Given the description of an element on the screen output the (x, y) to click on. 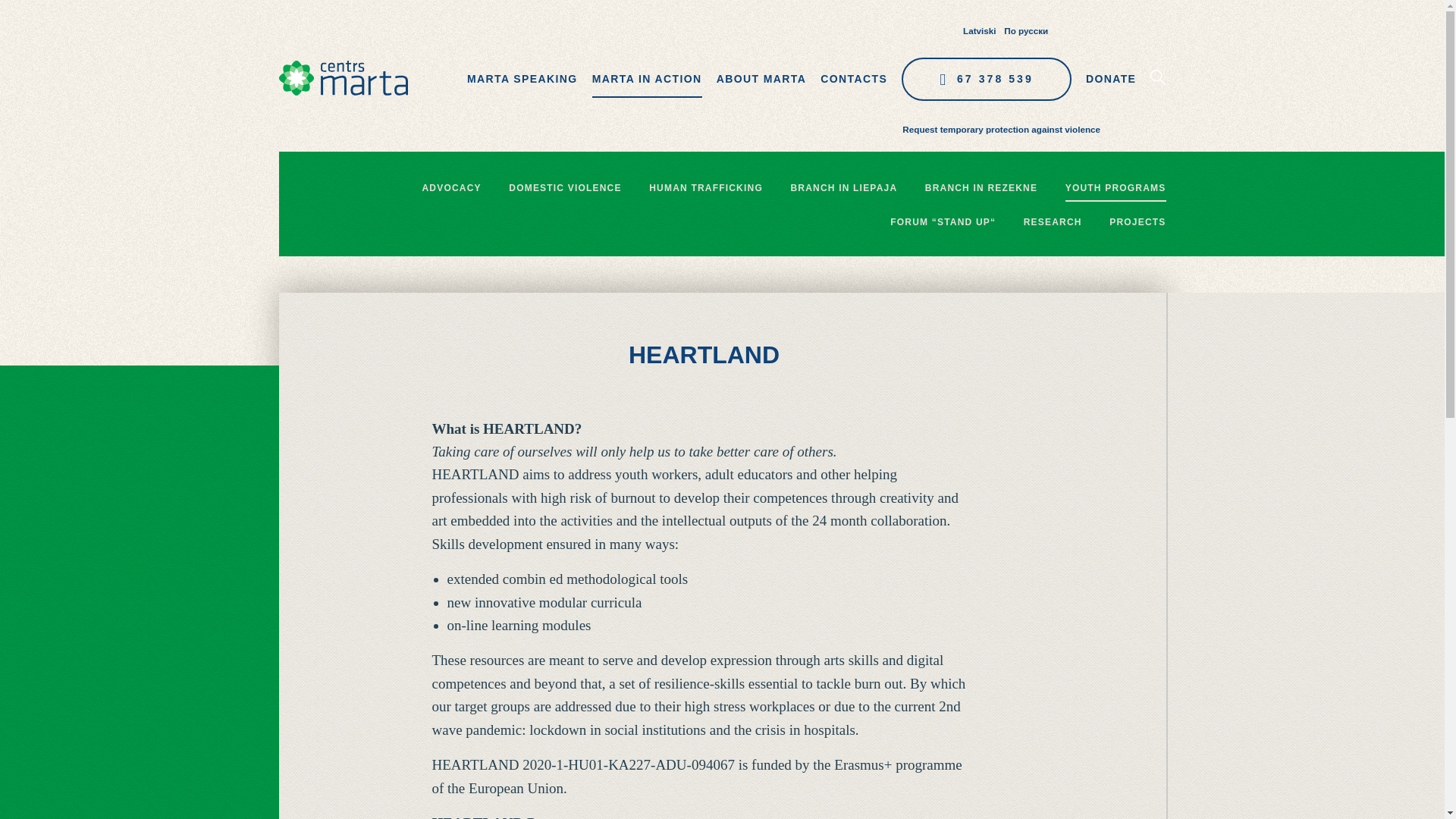
MARTA IN ACTION (646, 78)
ADVOCACY (451, 187)
ABOUT MARTA (761, 78)
DOMESTIC VIOLENCE (564, 187)
CONTACTS (853, 78)
BRANCH IN LIEPAJA (843, 187)
BRANCH IN REZEKNE (980, 187)
67 378 539 (986, 78)
YOUTH PROGRAMS (1115, 187)
MARTA SPEAKING (522, 78)
